Given the description of an element on the screen output the (x, y) to click on. 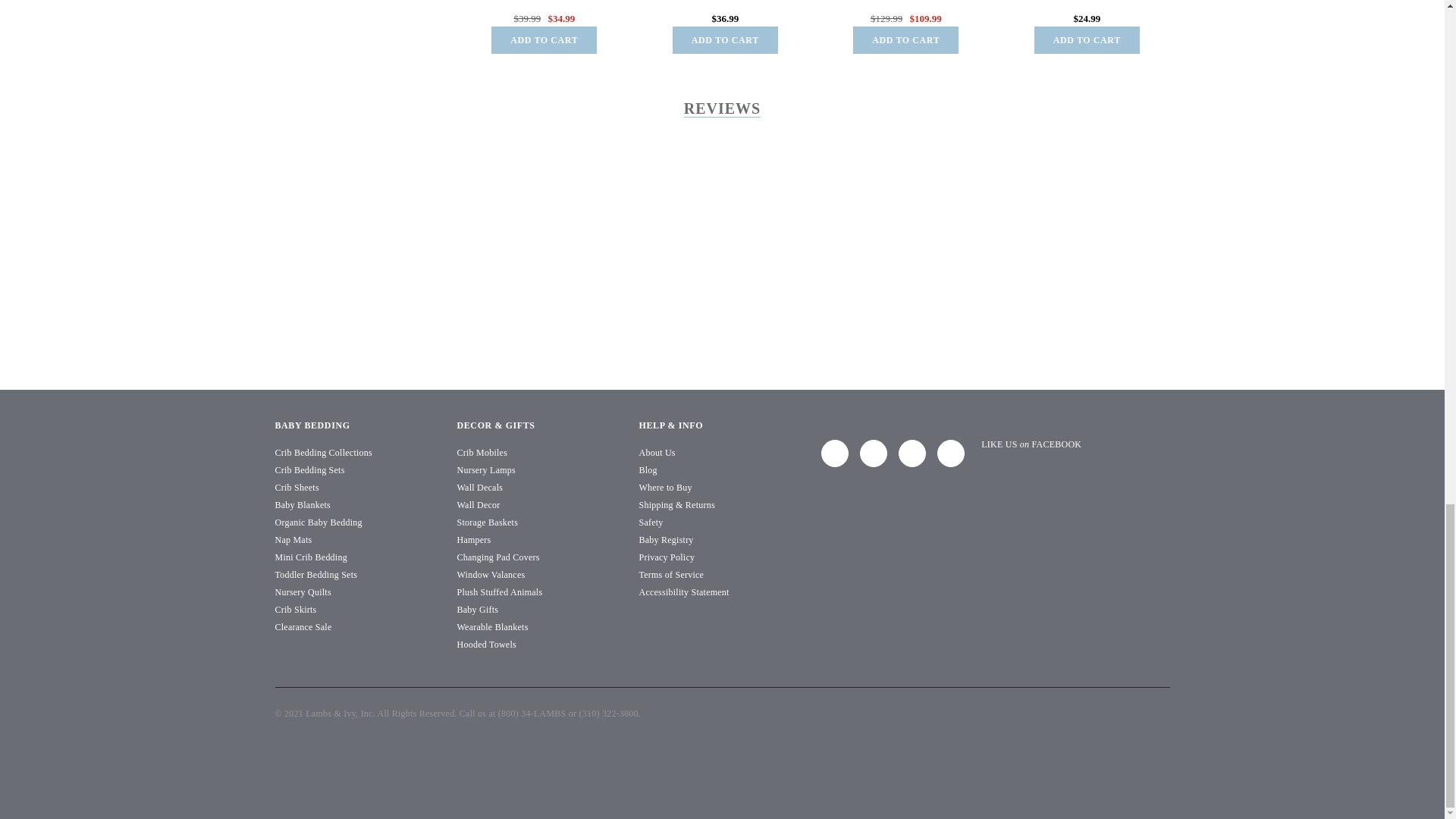
Twitter (873, 452)
Add to Cart (724, 40)
Add to Cart (544, 40)
Facebook (834, 452)
Add to Cart (1086, 40)
Add to Cart (905, 40)
